Given the description of an element on the screen output the (x, y) to click on. 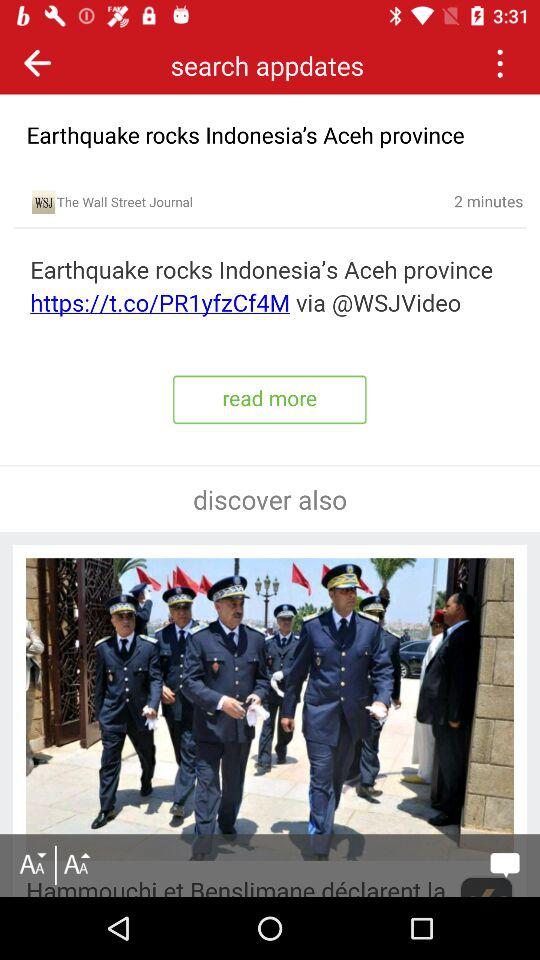
website address link (269, 287)
